Given the description of an element on the screen output the (x, y) to click on. 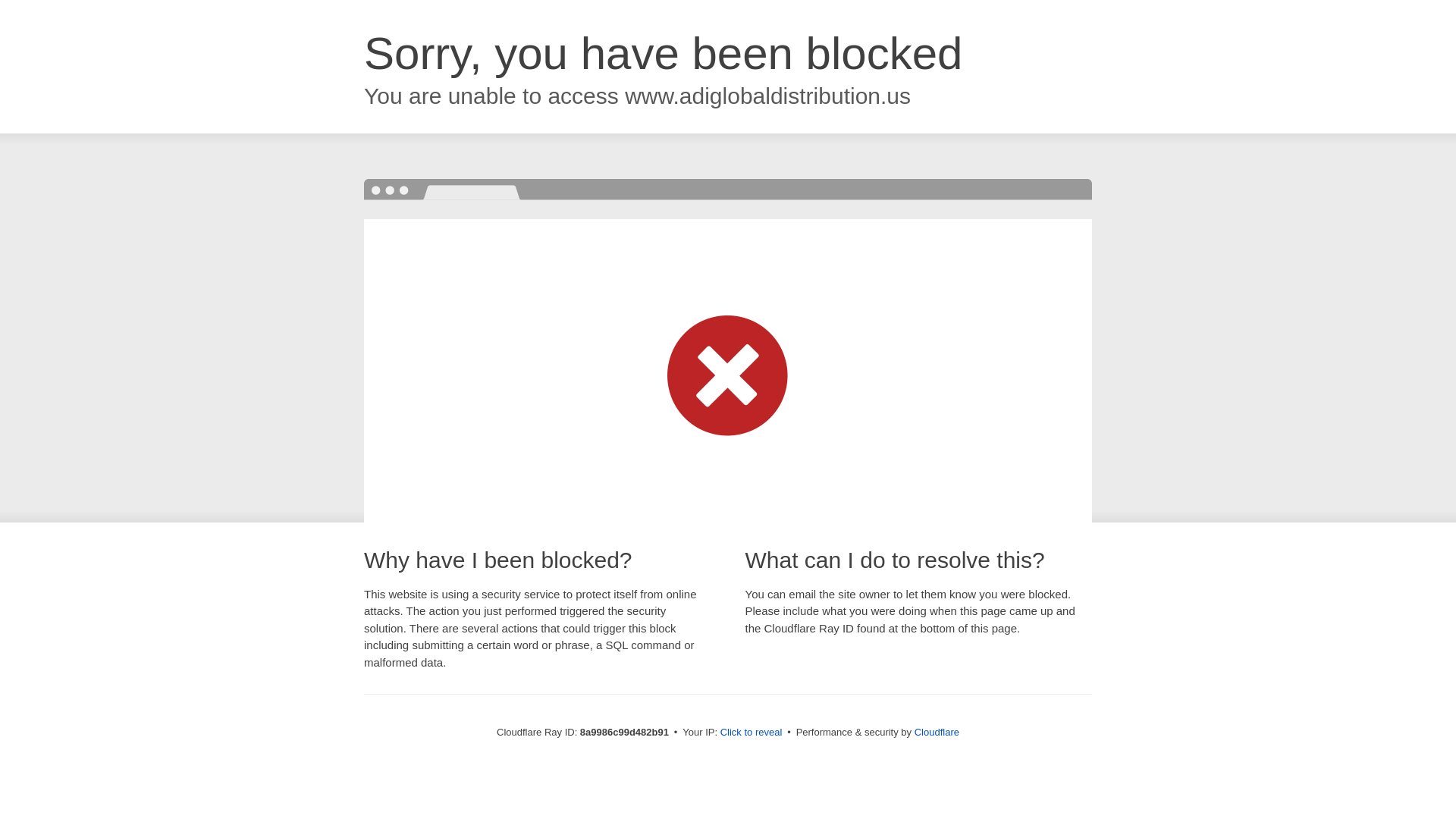
Cloudflare (936, 731)
Click to reveal (751, 732)
